Given the description of an element on the screen output the (x, y) to click on. 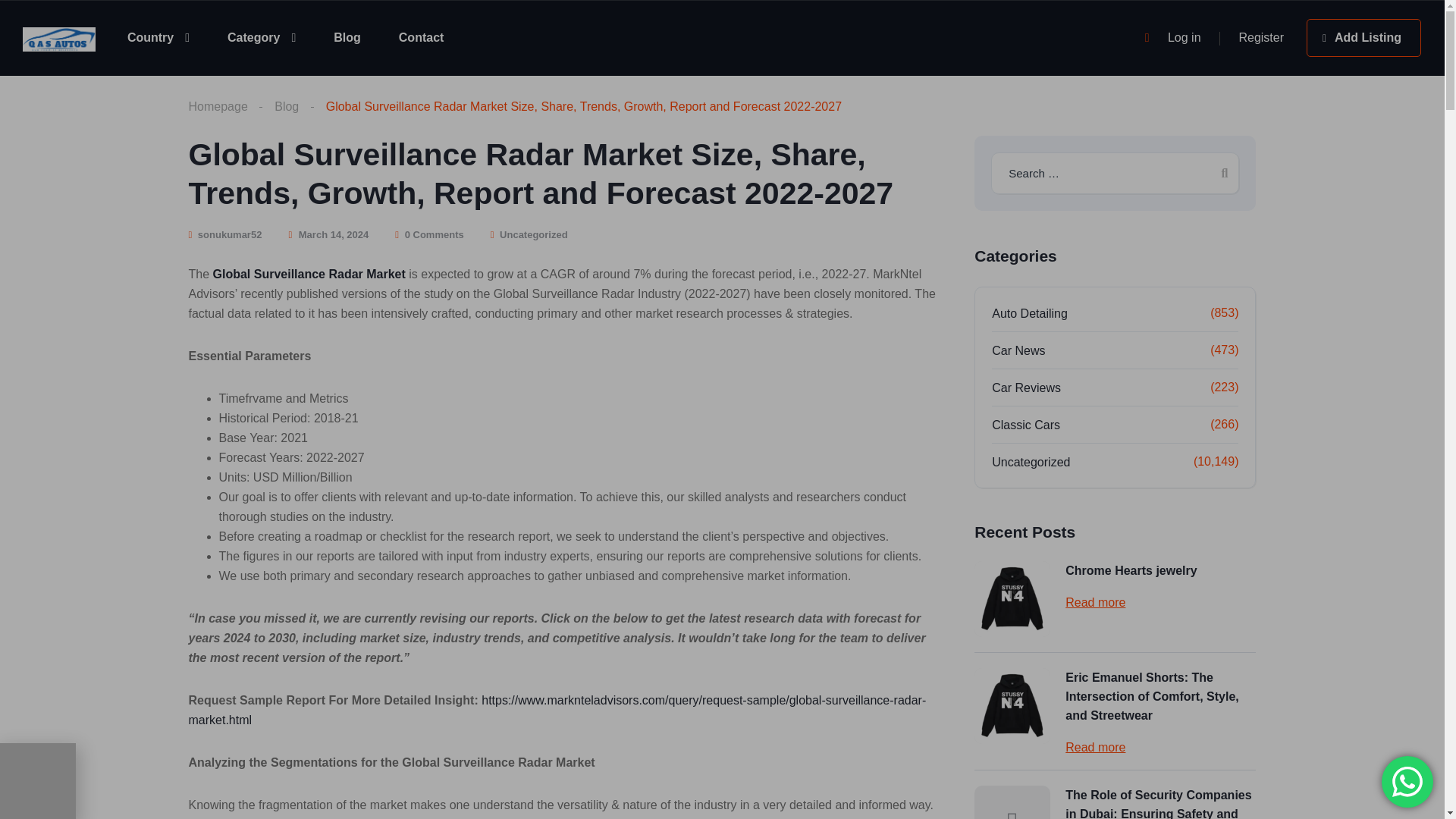
Category (261, 36)
Country (158, 36)
Cars (59, 38)
Uncategorized (533, 234)
Add Listing (1363, 37)
Homepage (217, 106)
Category (261, 36)
Blog (286, 106)
Global Surveillance Radar Market (309, 273)
Country (158, 36)
Register (1261, 37)
sonukumar52 (224, 234)
Log in (1185, 37)
